Given the description of an element on the screen output the (x, y) to click on. 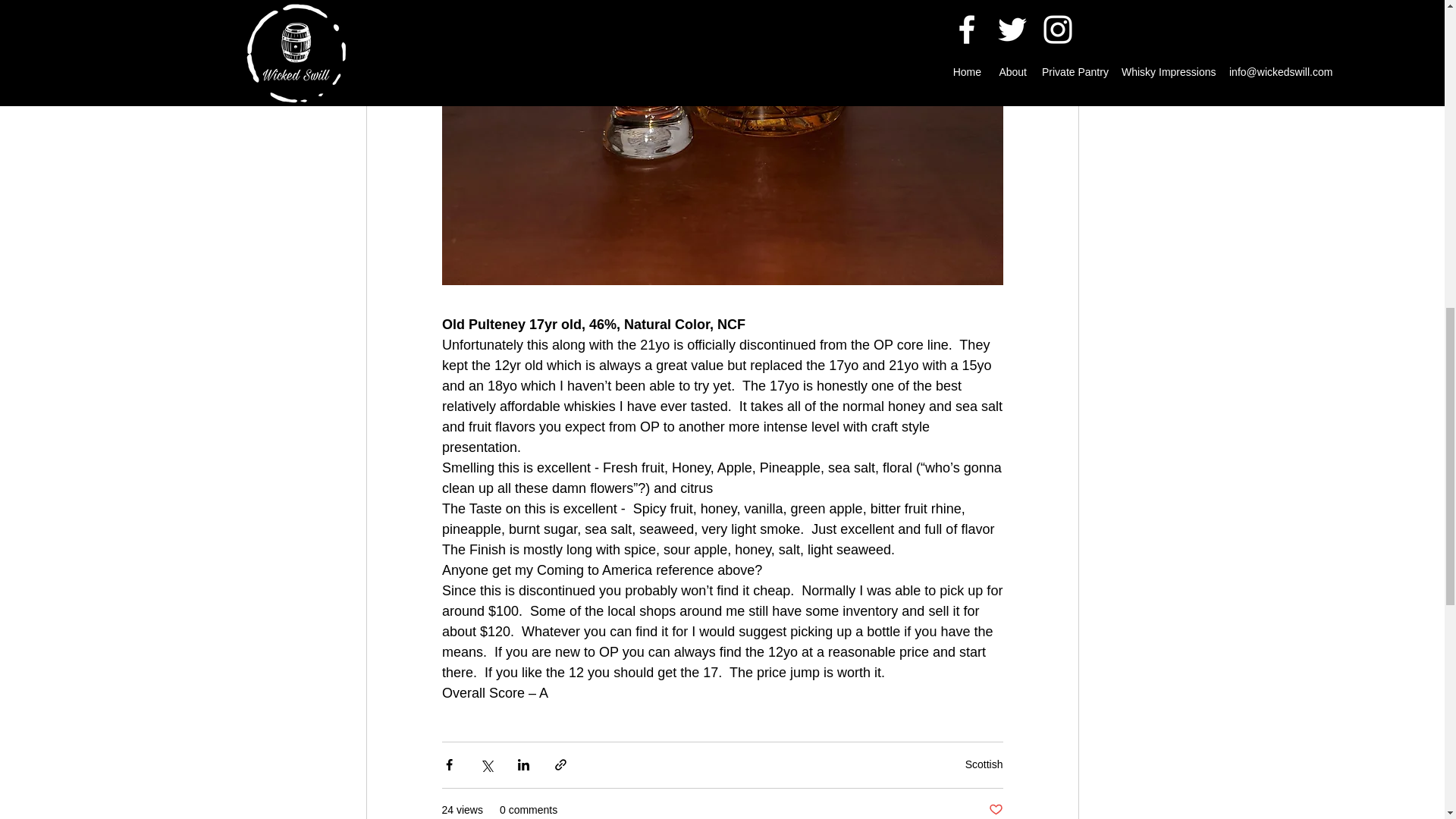
Post not marked as liked (995, 810)
Scottish (984, 764)
